Given the description of an element on the screen output the (x, y) to click on. 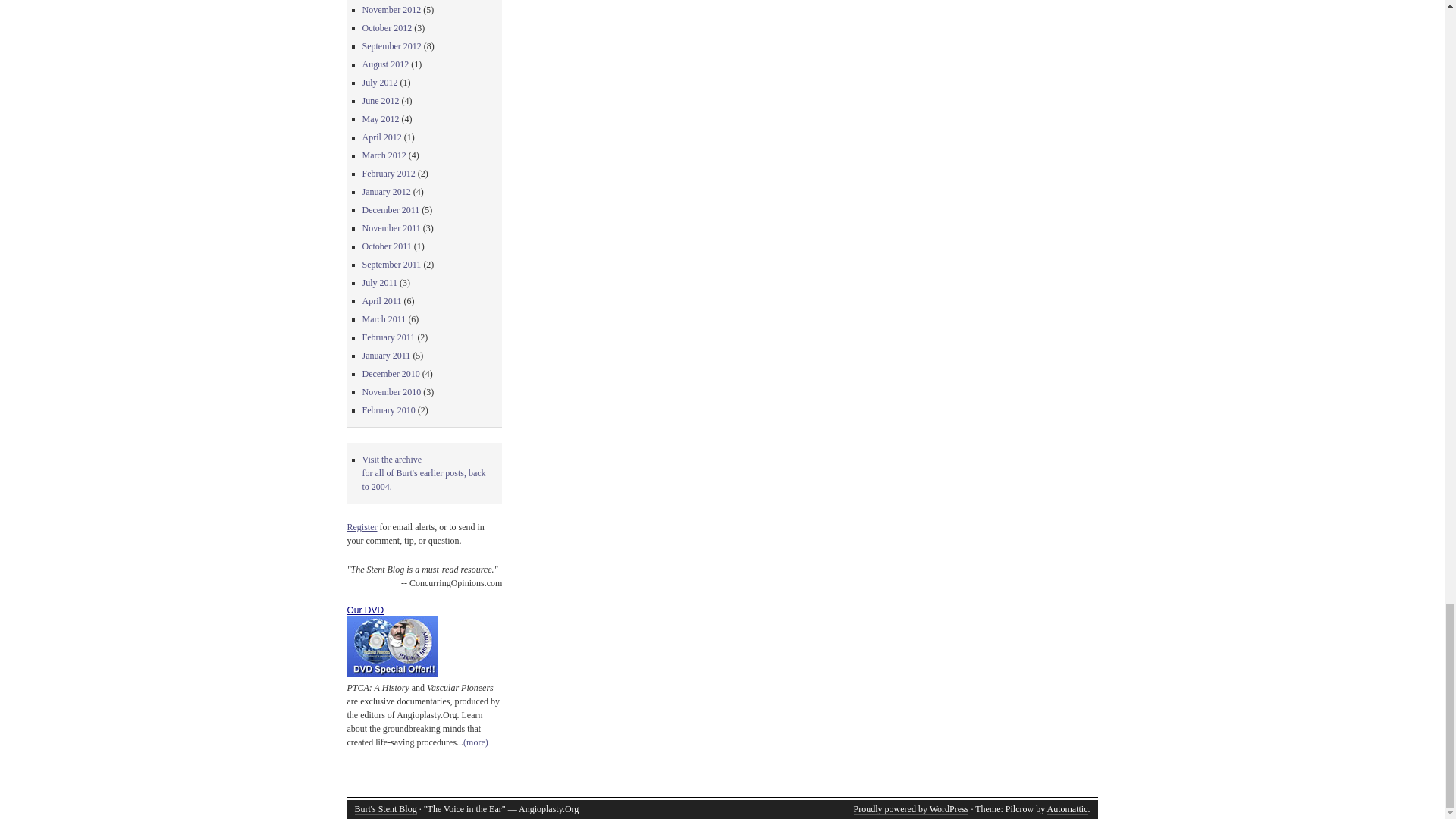
Burt's Stent Blog (385, 808)
A Semantic Personal Publishing Platform (911, 808)
